Given the description of an element on the screen output the (x, y) to click on. 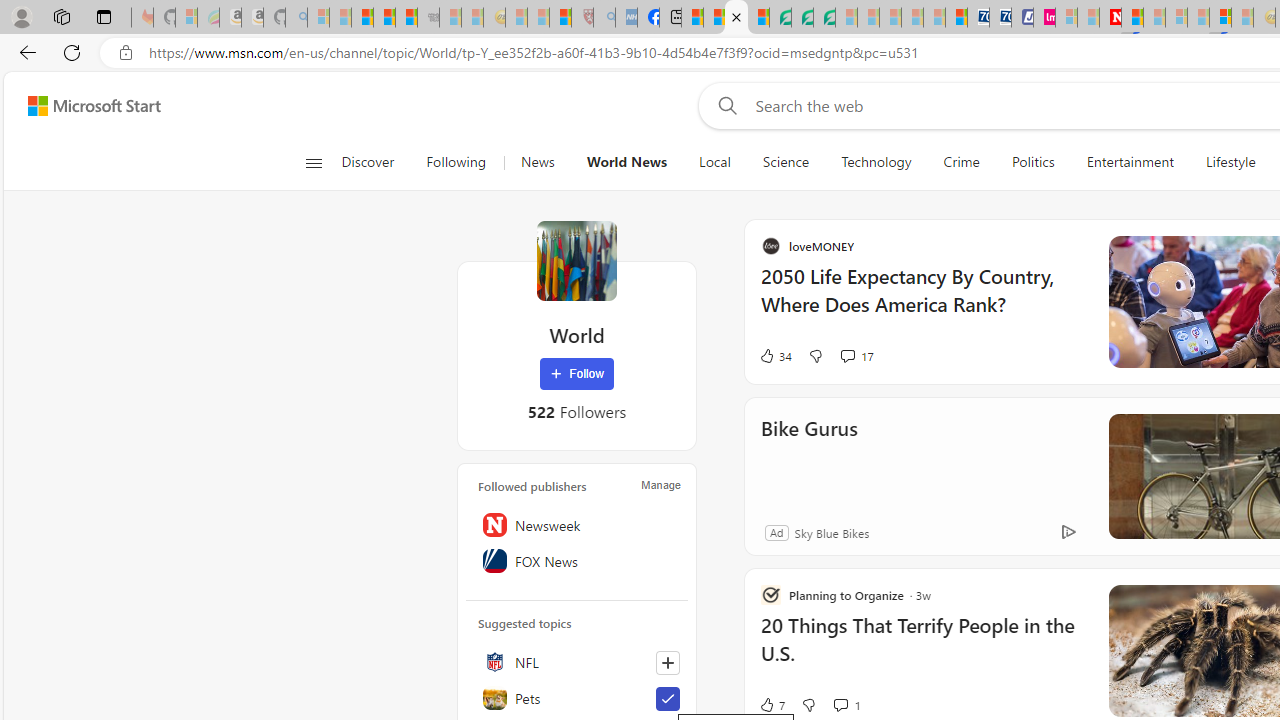
Jobs - lastminute.com Investor Portal (1044, 17)
Follow (577, 373)
